Given the description of an element on the screen output the (x, y) to click on. 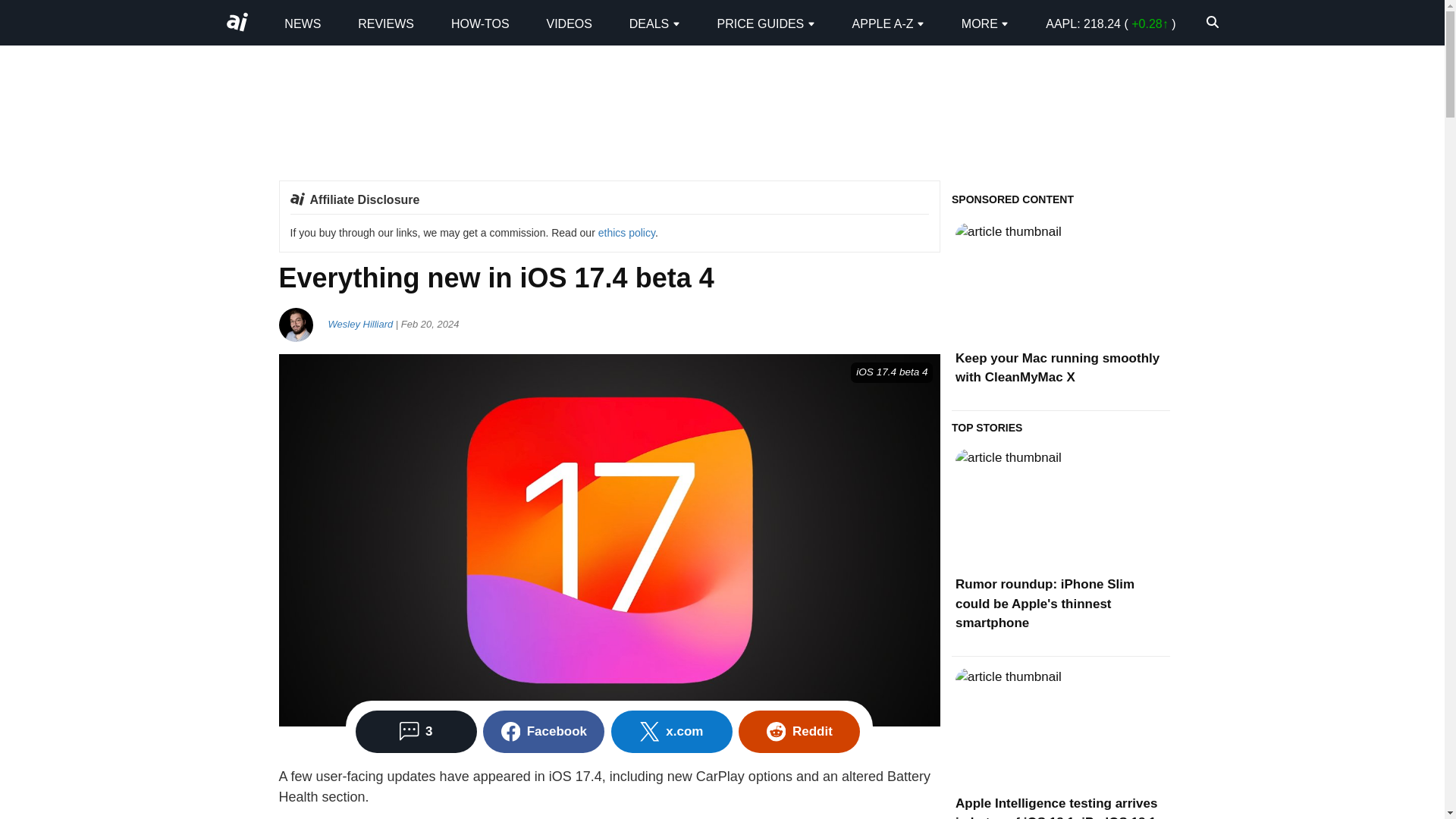
Reviews (385, 23)
VIDEOS (568, 23)
HOW-TOS (480, 23)
REVIEWS (385, 23)
Videos (568, 23)
How-Tos (480, 23)
News (301, 23)
NEWS (301, 23)
